Given the description of an element on the screen output the (x, y) to click on. 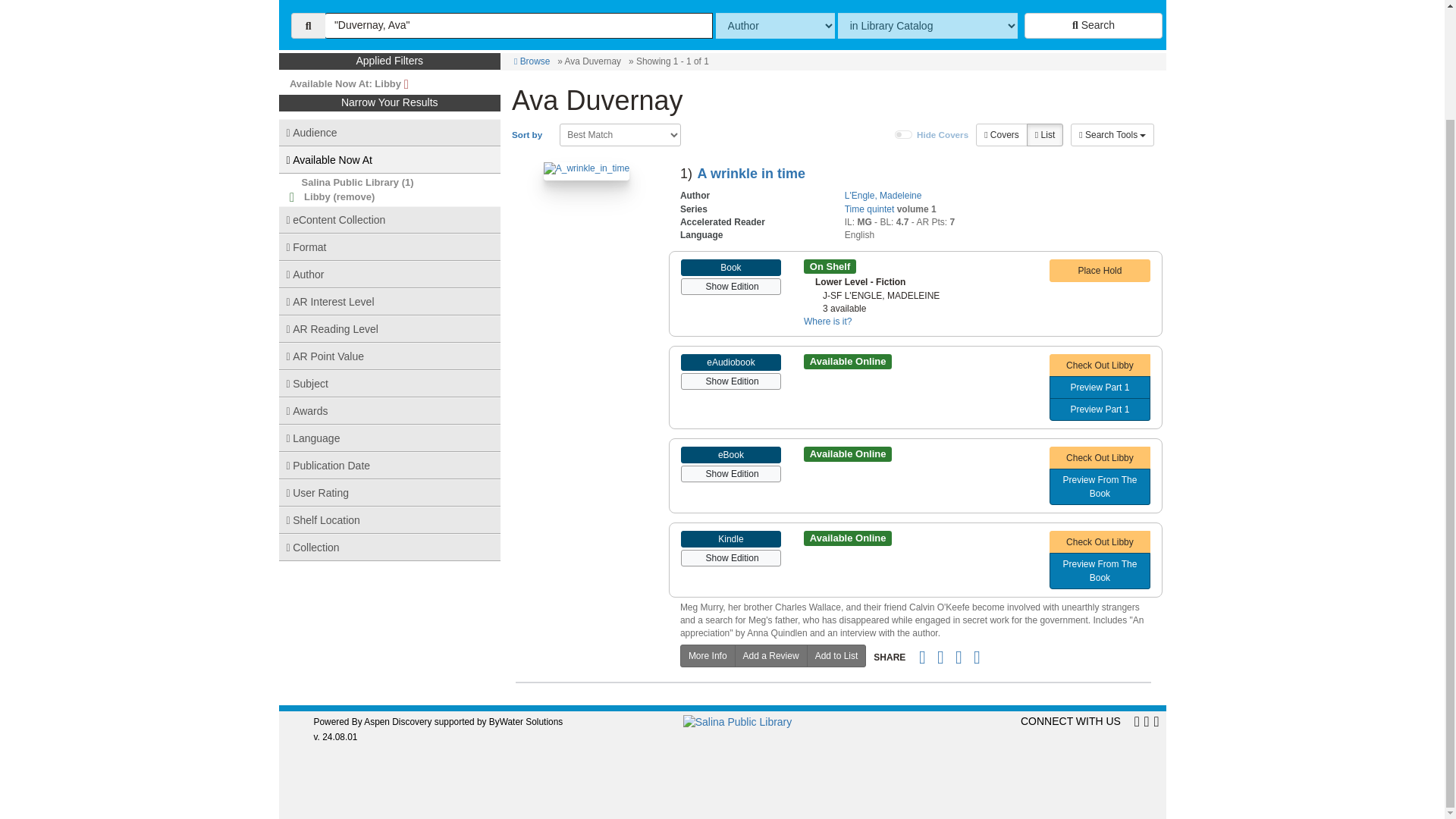
Salina Public Library (349, 182)
"Duvernay, Ava" (518, 25)
 Search (1093, 25)
The method of searching. (775, 25)
on (903, 134)
